Given the description of an element on the screen output the (x, y) to click on. 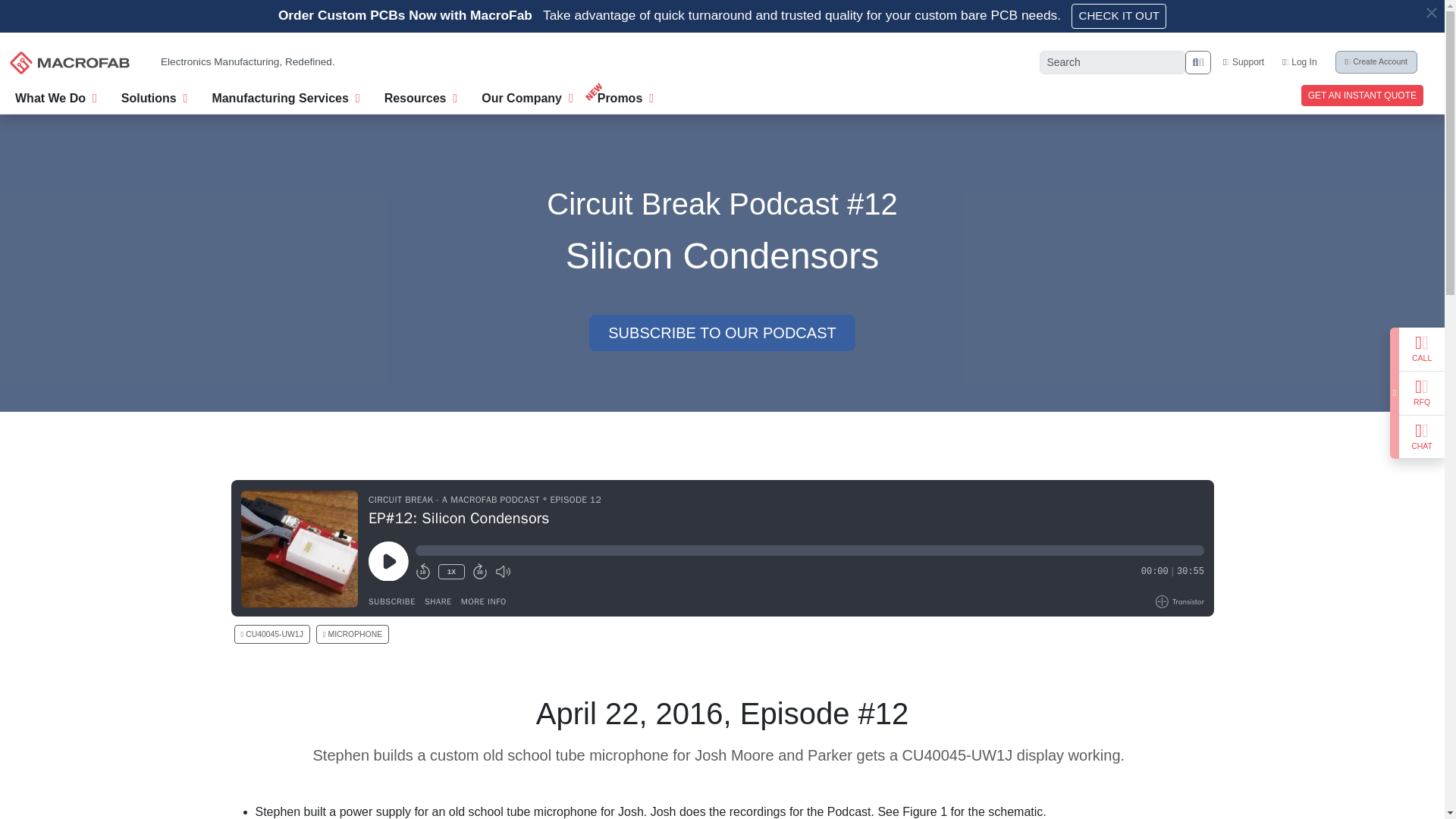
Solutions   (154, 95)
CHECK IT OUT (1118, 16)
 Log In (1299, 61)
 Support (1243, 61)
What We Do   (55, 95)
 Create Account (1375, 61)
